Given the description of an element on the screen output the (x, y) to click on. 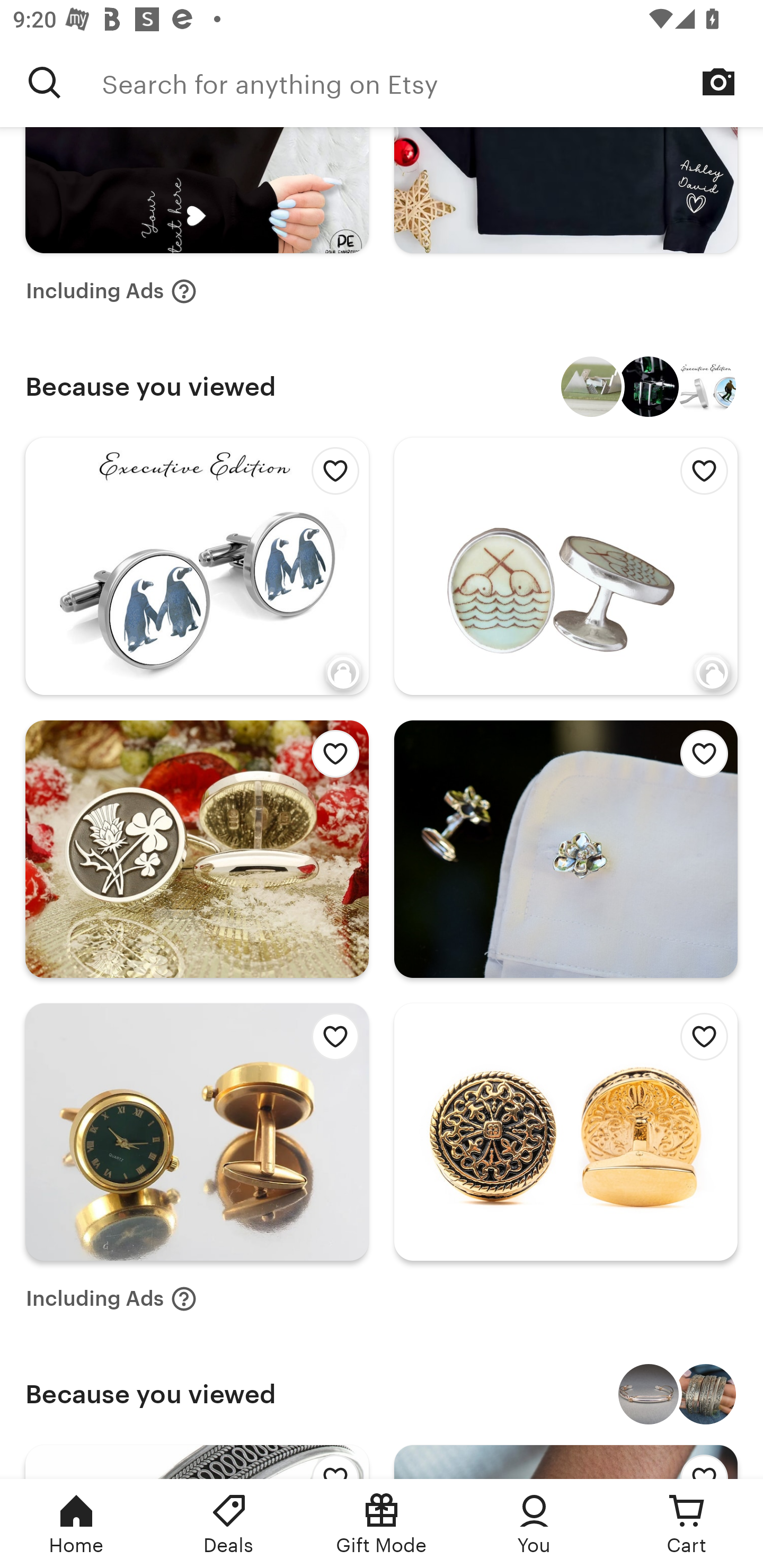
Search for anything on Etsy (44, 82)
Search by image (718, 81)
Search for anything on Etsy (432, 82)
Including Ads (111, 290)
Including Ads (111, 1298)
Deals (228, 1523)
Gift Mode (381, 1523)
You (533, 1523)
Cart (686, 1523)
